Given the description of an element on the screen output the (x, y) to click on. 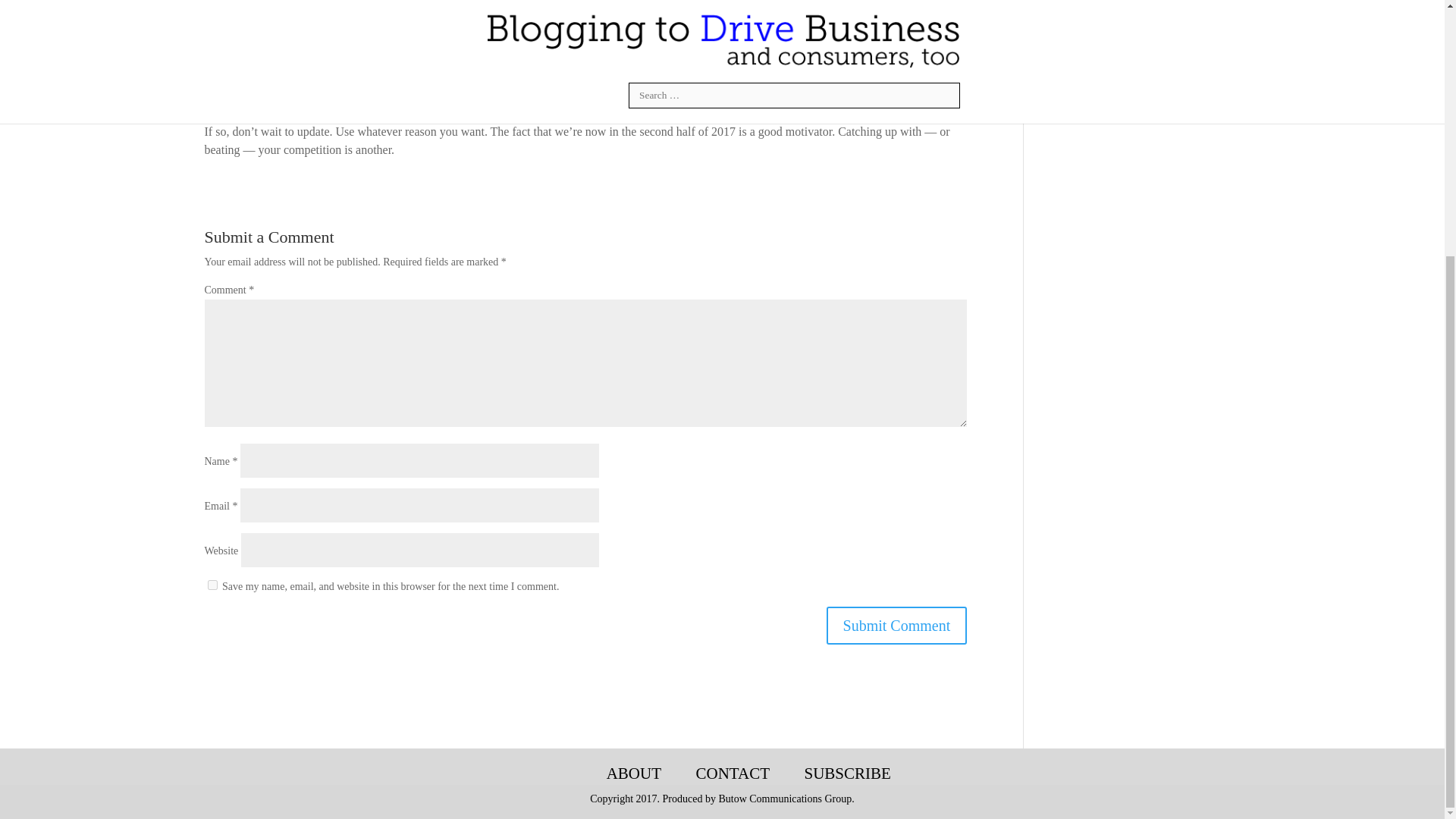
Submit Comment (897, 625)
yes (212, 584)
CONTACT (731, 773)
ABOUT (634, 773)
Submit Comment (897, 625)
SUBSCRIBE (846, 773)
BLOGGING-TECH-BOOKS-ARTICLES-COURSES (562, 773)
